Given the description of an element on the screen output the (x, y) to click on. 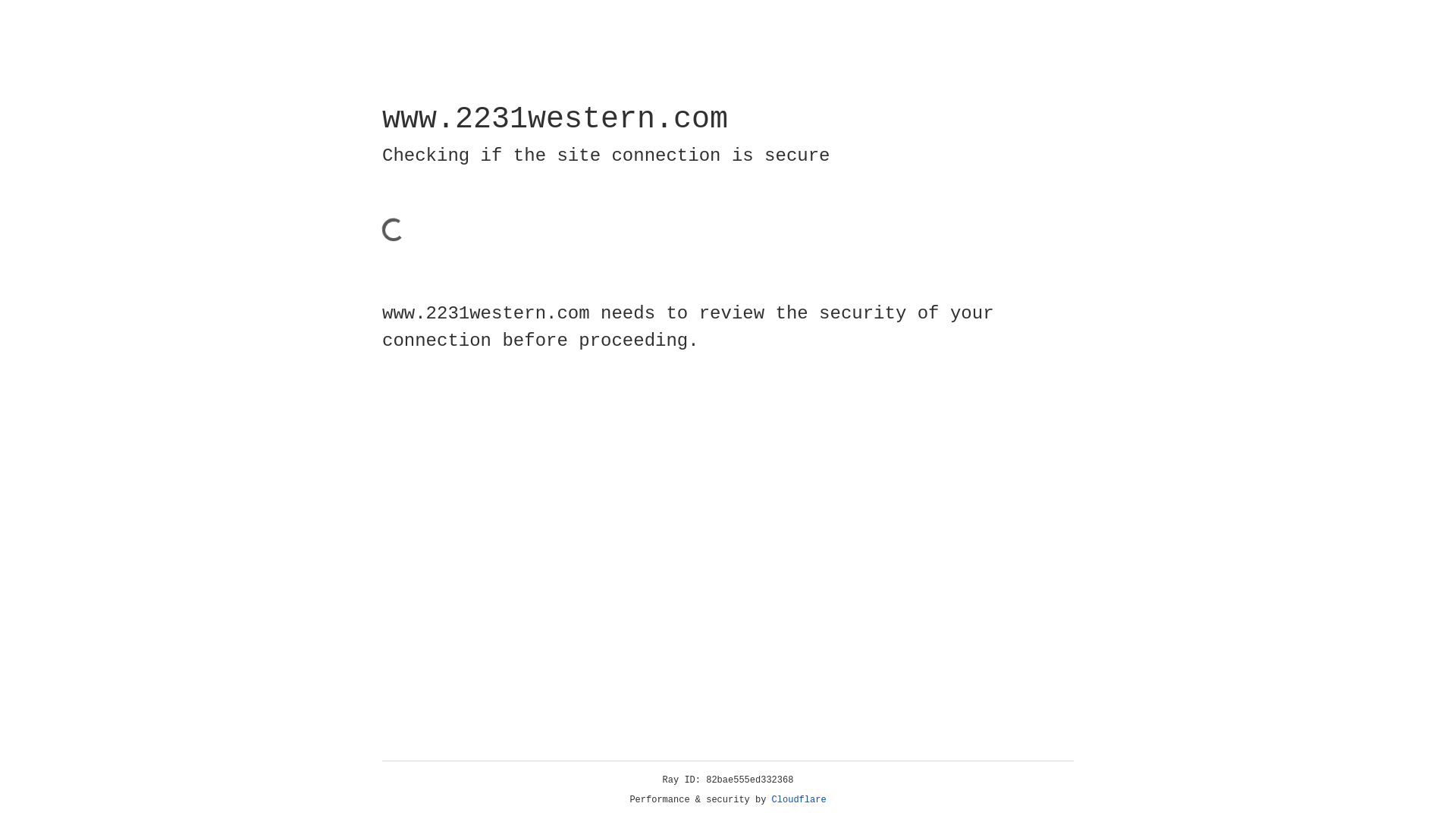
Cloudflare Element type: text (798, 799)
